Given the description of an element on the screen output the (x, y) to click on. 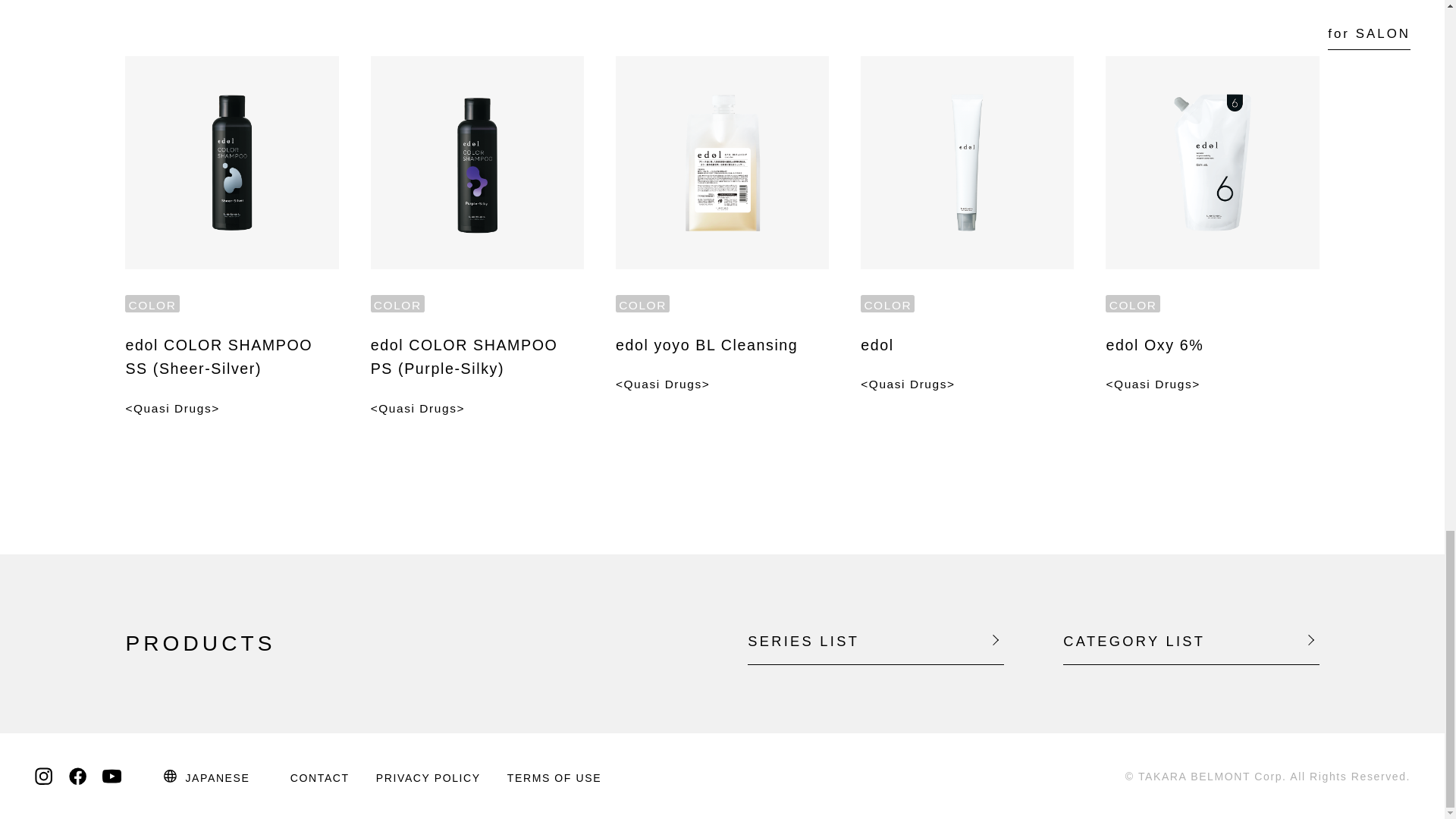
JAPANESE (205, 775)
CONTACT (319, 777)
CATEGORY LIST (1190, 640)
SERIES LIST (875, 640)
PRIVACY POLICY (427, 777)
TERMS OF USE (553, 777)
